Given the description of an element on the screen output the (x, y) to click on. 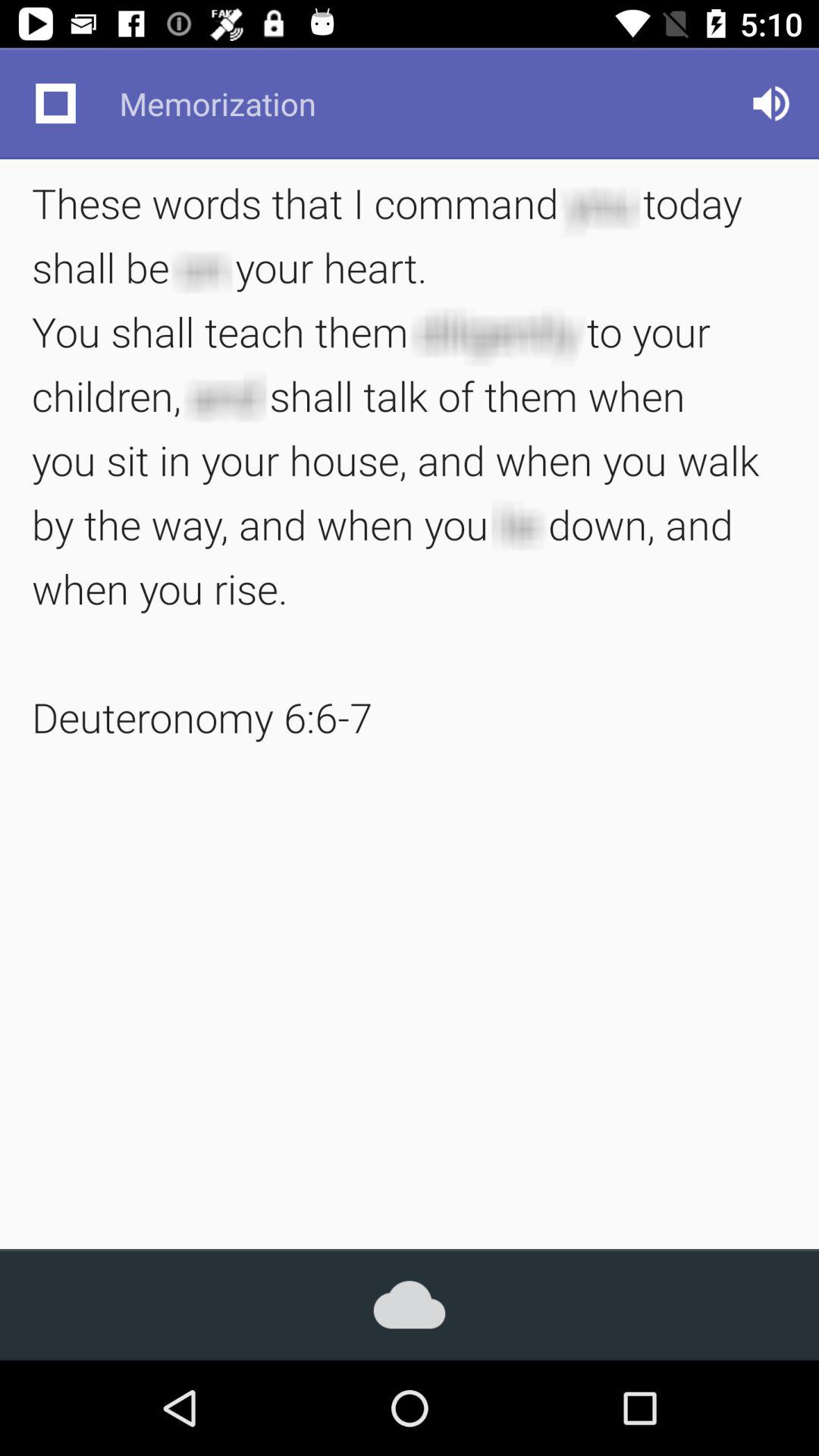
turn off item above these words that icon (55, 103)
